Given the description of an element on the screen output the (x, y) to click on. 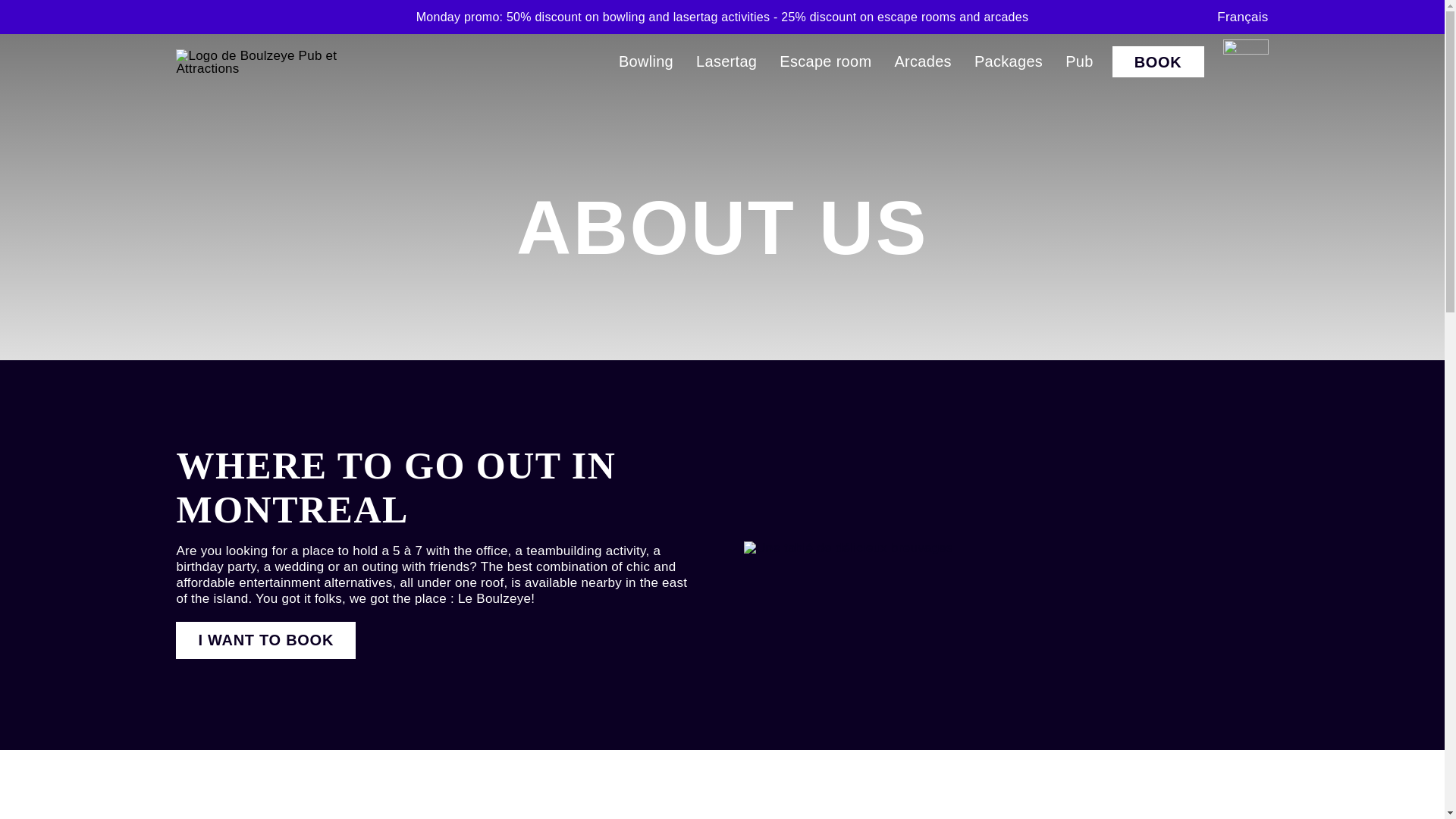
Arcades (921, 61)
Escape room (824, 61)
BOOK (1158, 60)
Lasertag (726, 61)
Bowling (645, 61)
Packages (1008, 61)
about-where (848, 547)
I WANT TO BOOK (265, 640)
